Given the description of an element on the screen output the (x, y) to click on. 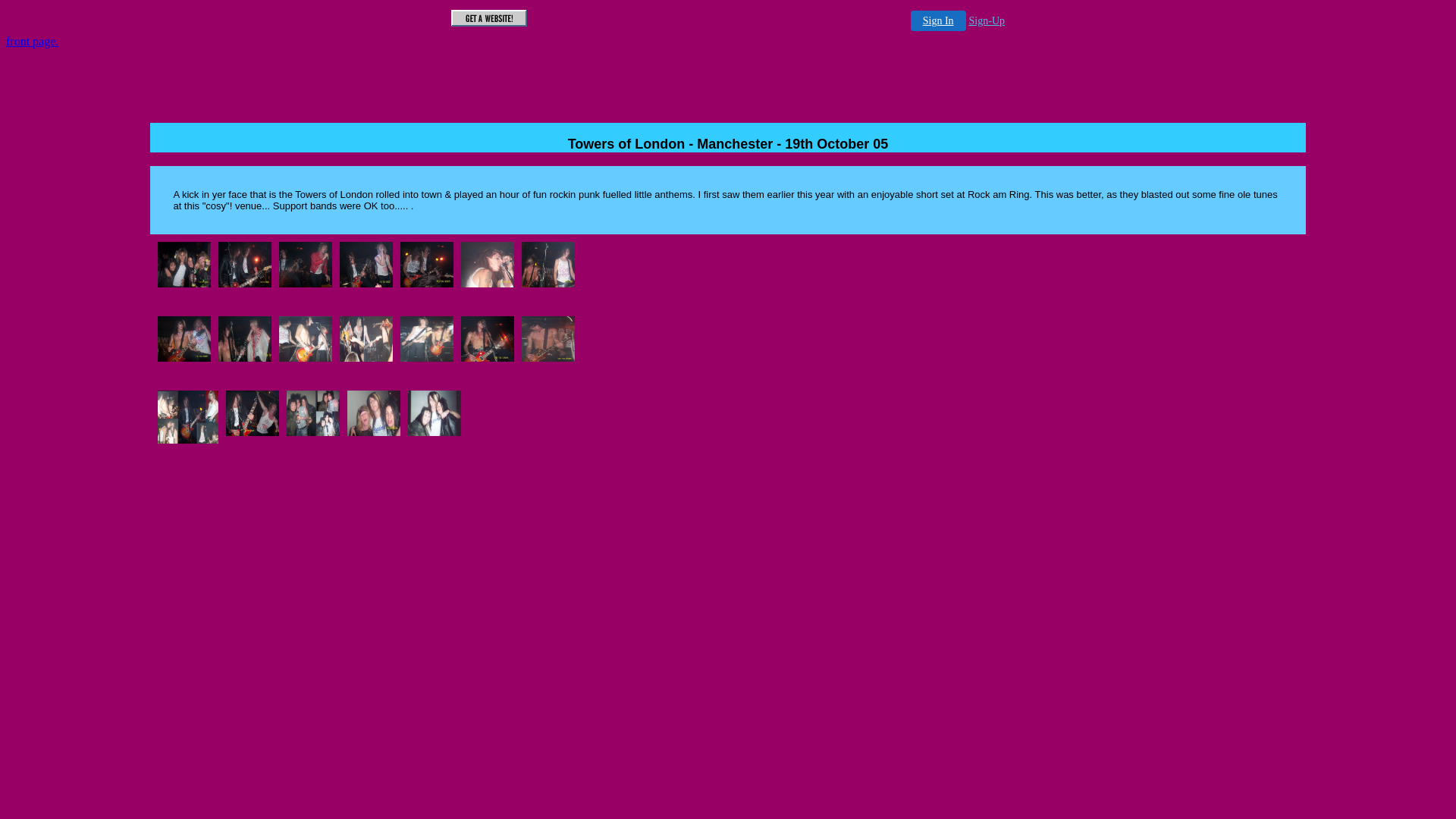
front page. Element type: text (32, 40)
Sign In Element type: text (938, 20)
Sign-Up Element type: text (986, 20)
